Given the description of an element on the screen output the (x, y) to click on. 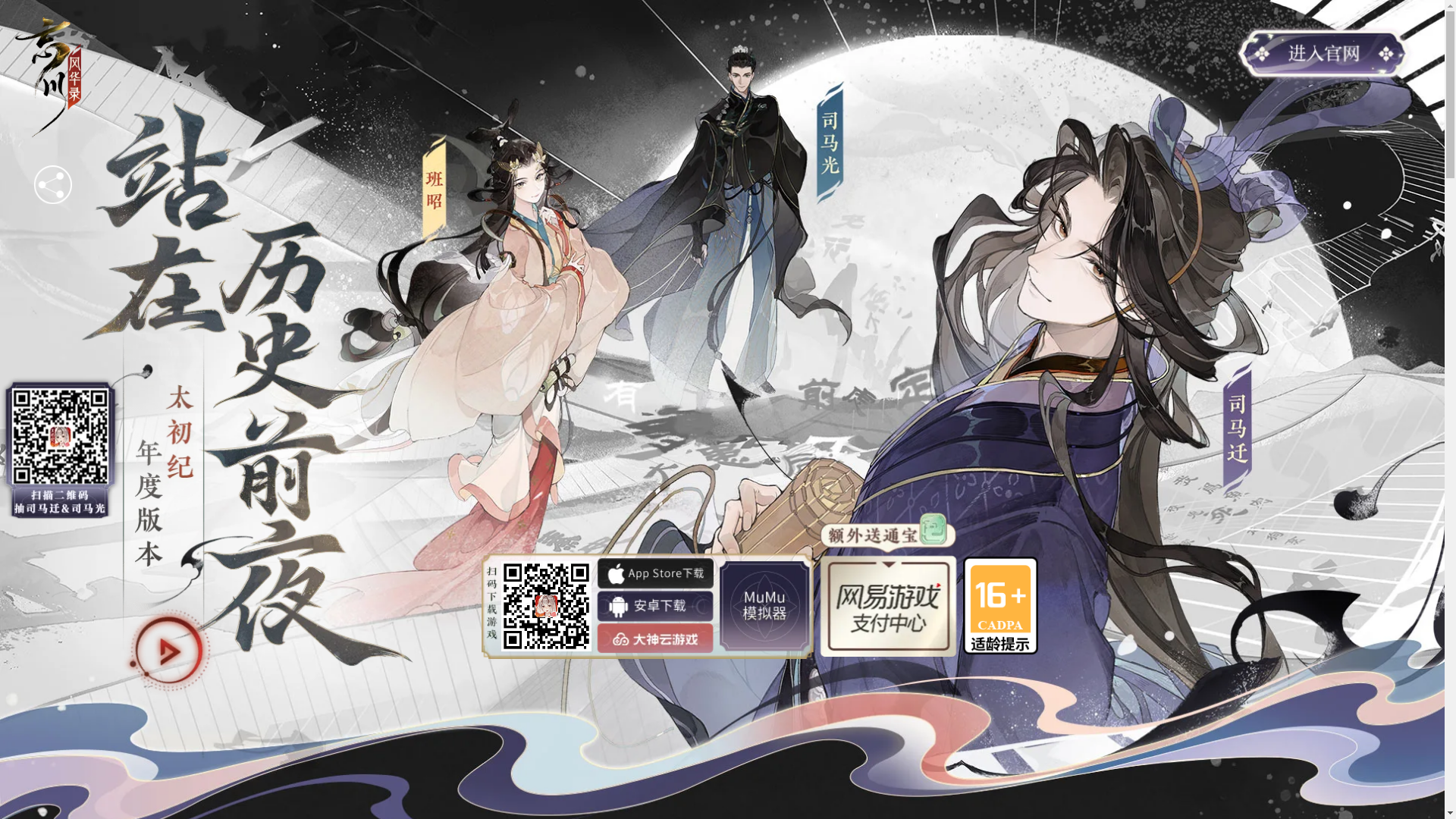
16+ Element type: hover (1000, 605)
